Given the description of an element on the screen output the (x, y) to click on. 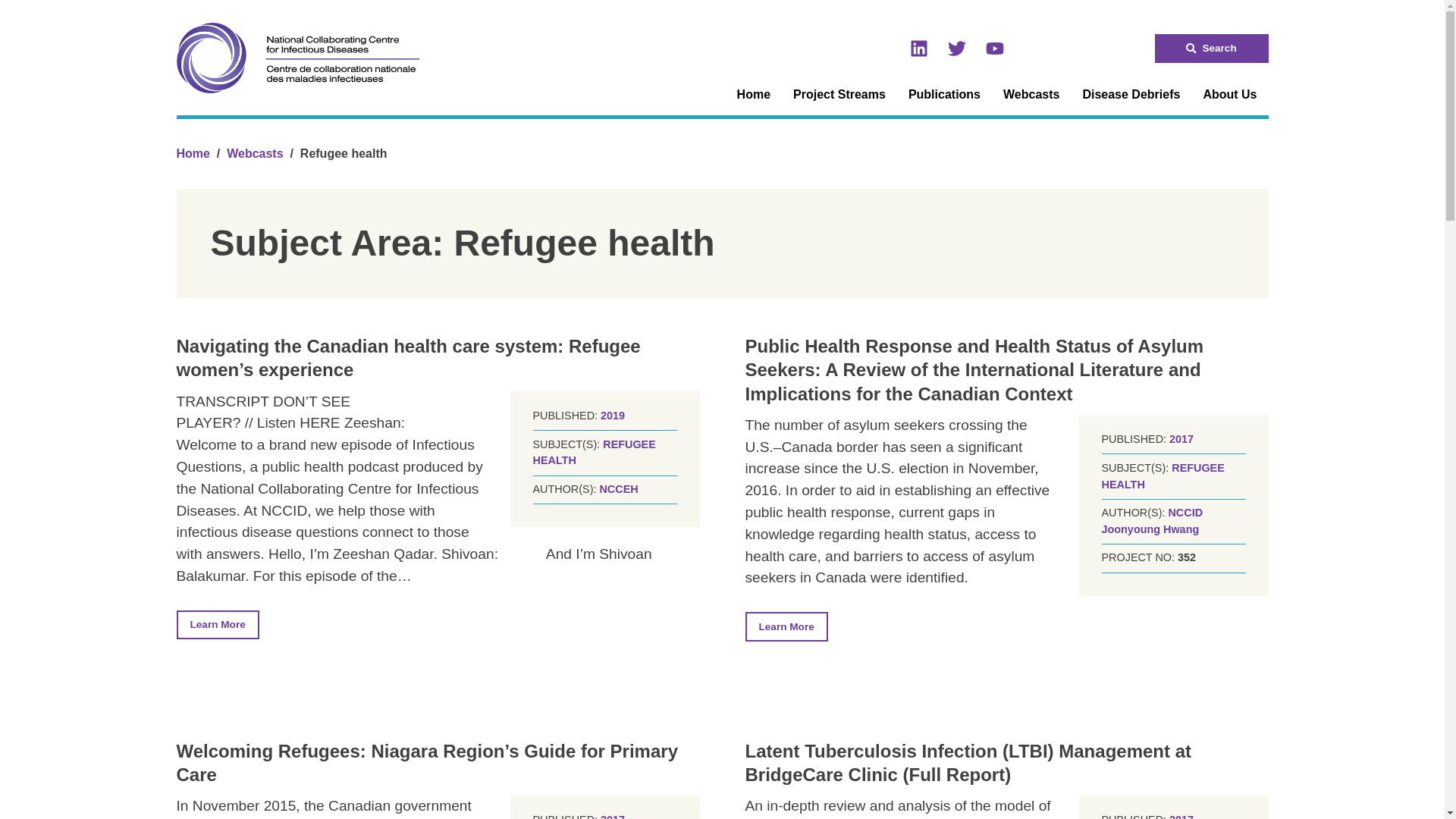
About Us (1229, 94)
REFUGEE HEALTH (1162, 475)
Publications (943, 94)
Project Streams (838, 94)
2017 (611, 816)
Search (1211, 48)
Disease Debriefs (1130, 94)
REFUGEE HEALTH (593, 452)
Home (192, 153)
Webcasts (254, 153)
2019 (611, 415)
2017 (1181, 816)
2017 (1181, 439)
NCCID (1184, 512)
Go to Webcasts. (254, 153)
